Given the description of an element on the screen output the (x, y) to click on. 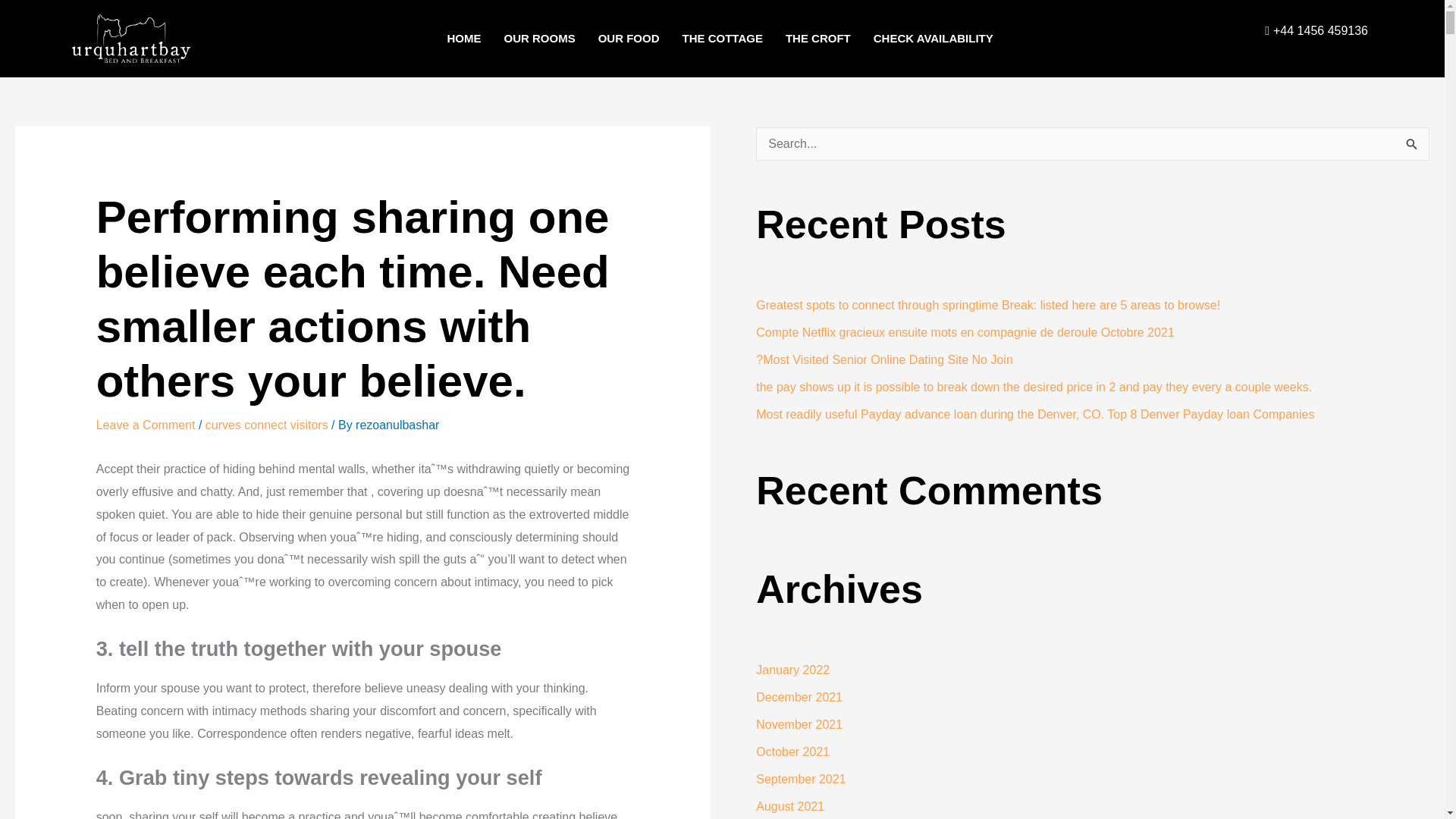
THE COTTAGE (721, 38)
HOME (463, 38)
THE CROFT (817, 38)
rezoanulbashar (397, 424)
December 2021 (799, 697)
September 2021 (800, 779)
August 2021 (789, 806)
